Given the description of an element on the screen output the (x, y) to click on. 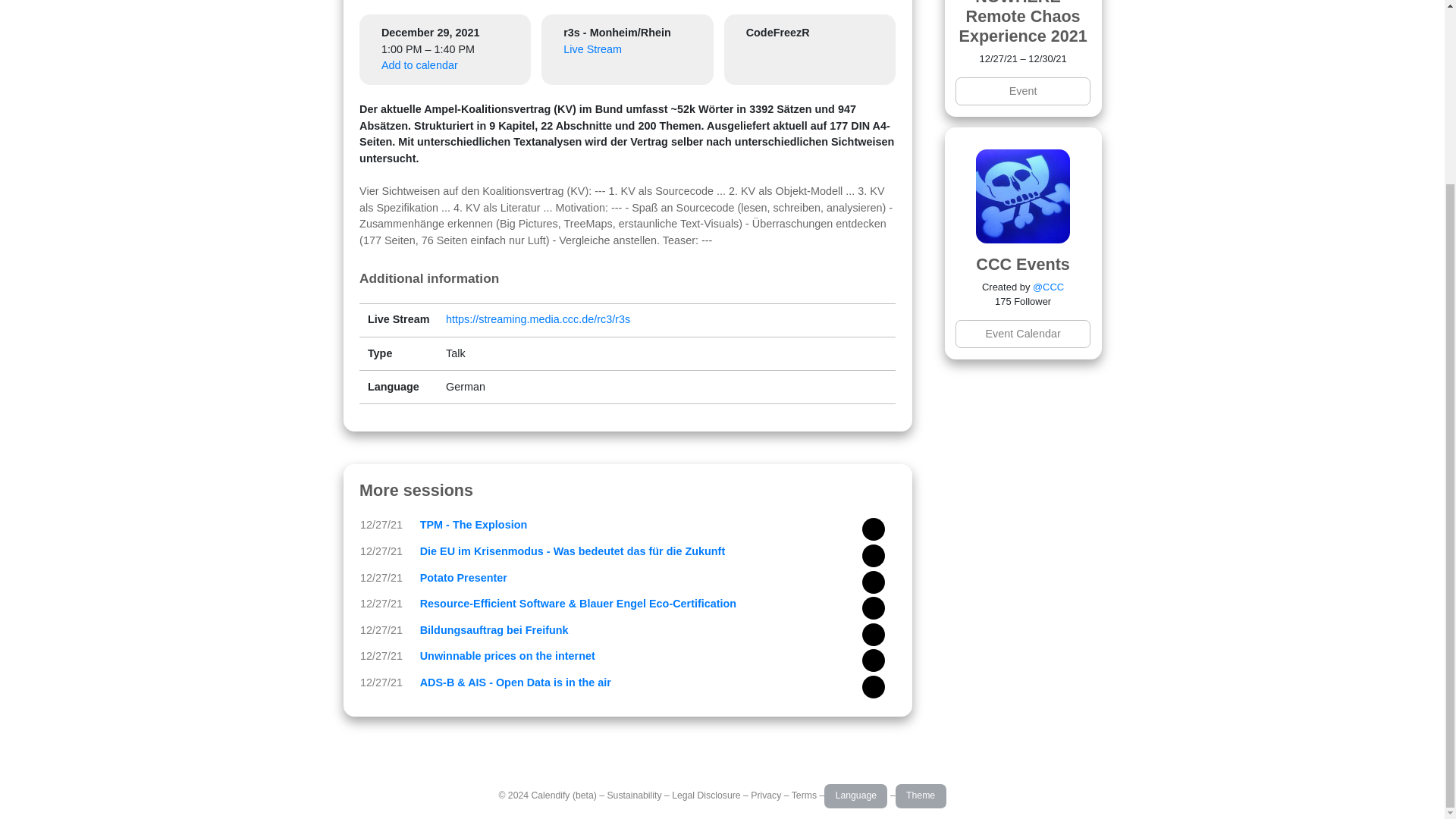
Event (1022, 90)
TPM - The Explosion (473, 524)
Event Calendar (1022, 334)
Bildungsauftrag bei Freifunk (494, 630)
Sustainability (634, 795)
Unwinnable prices on the internet (507, 655)
Add to calendar (419, 64)
Live Stream (592, 49)
Potato Presenter (463, 577)
